Given the description of an element on the screen output the (x, y) to click on. 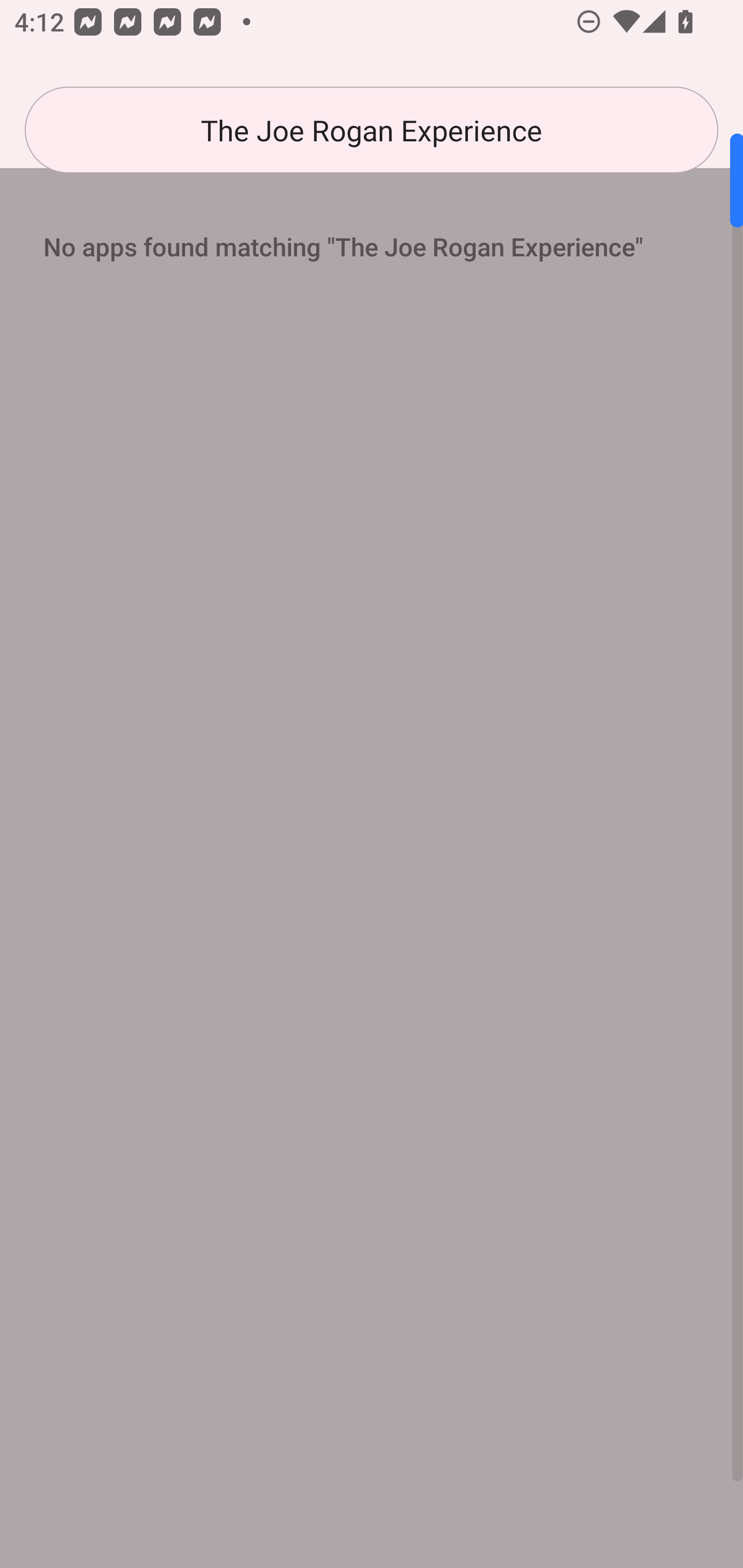
The Joe Rogan Experience (371, 130)
